Given the description of an element on the screen output the (x, y) to click on. 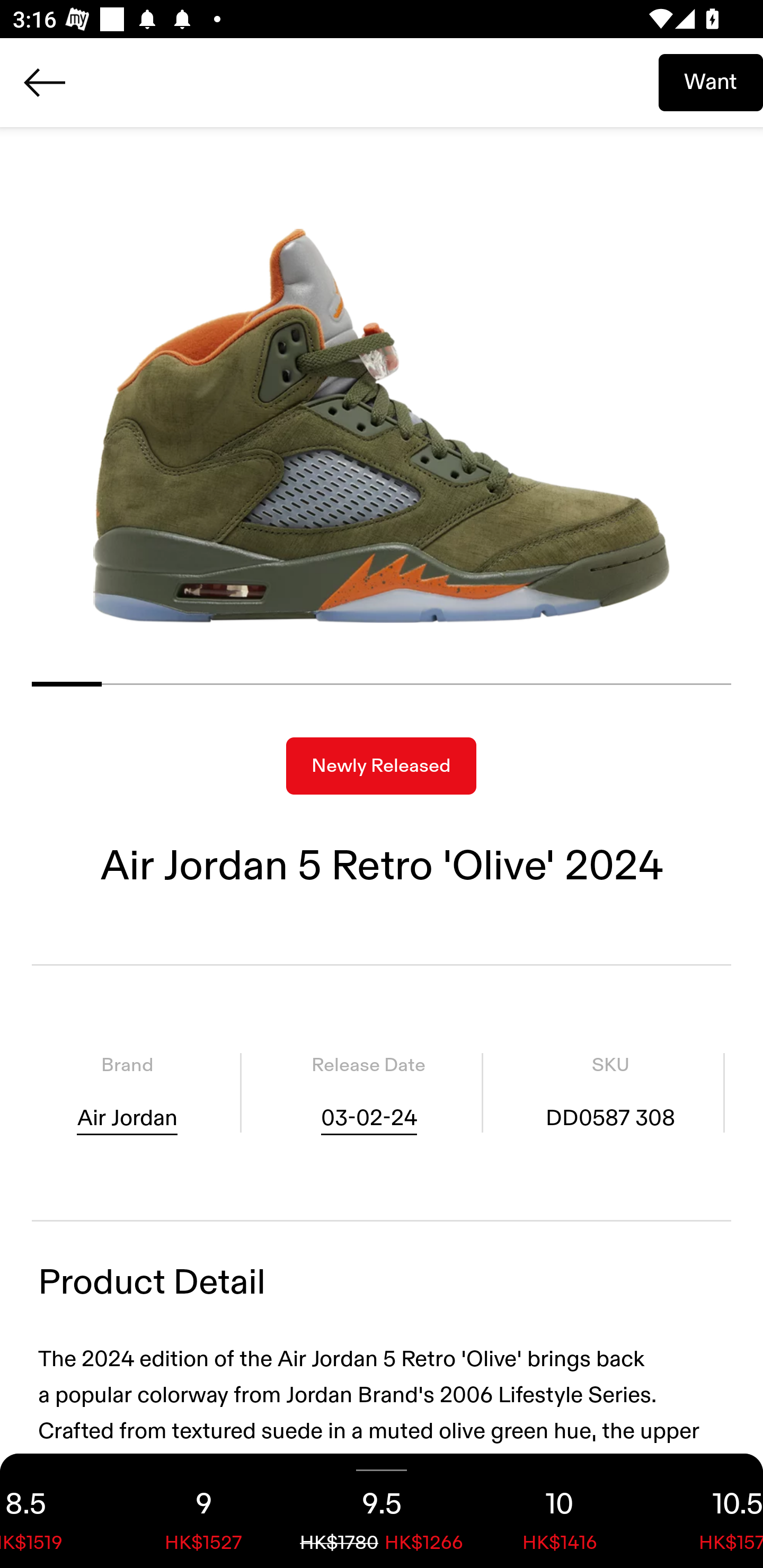
Want (710, 82)
Newly Released (381, 765)
Brand Air Jordan (126, 1092)
Release Date 03-02-24 (368, 1092)
SKU DD0587 308 (609, 1092)
8.5 HK$1519 (57, 1510)
9 HK$1527 (203, 1510)
9.5 HK$1780 HK$1266 (381, 1510)
10 HK$1416 (559, 1510)
10.5 HK$1574 (705, 1510)
